Given the description of an element on the screen output the (x, y) to click on. 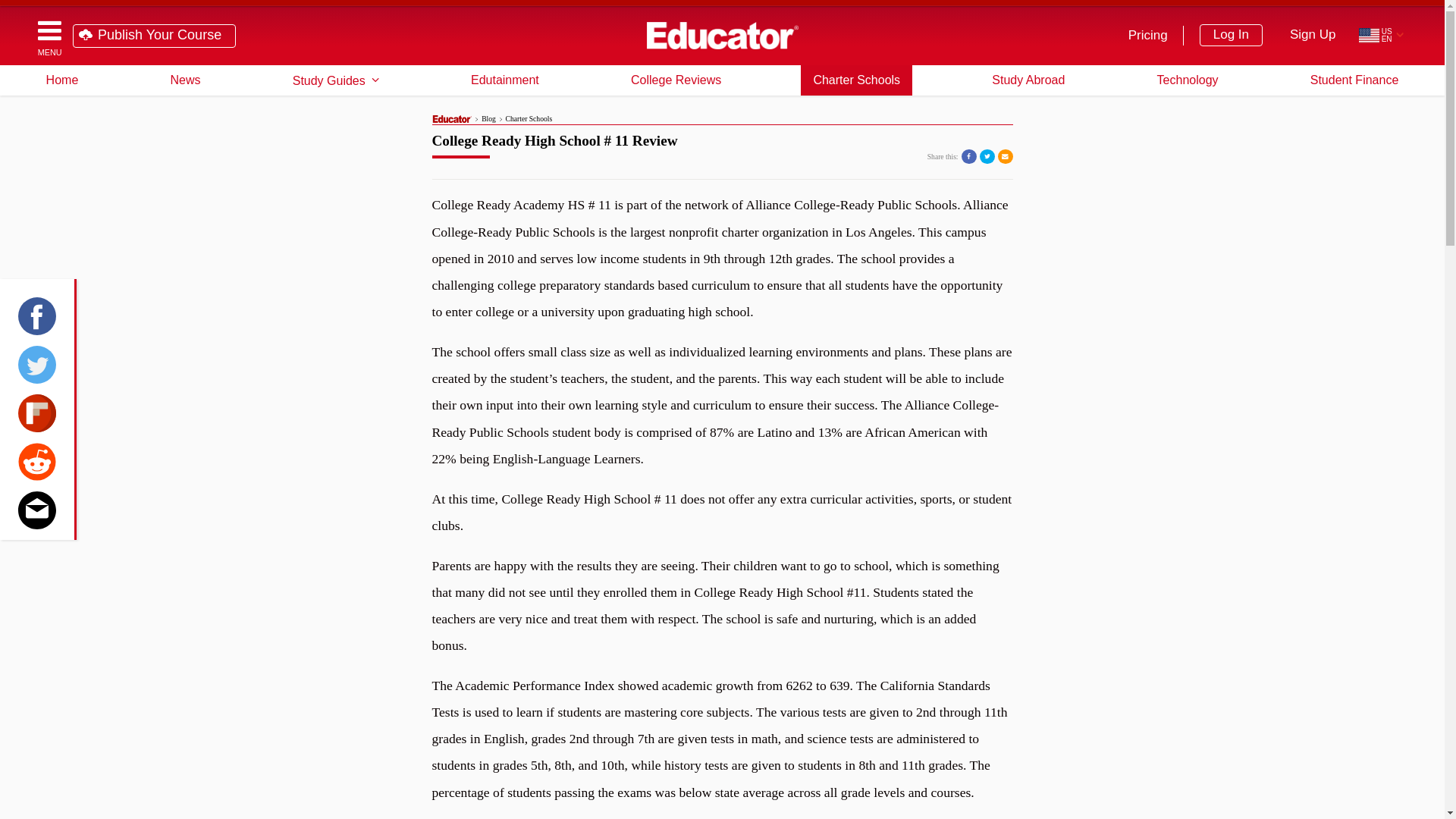
Publish Your Course (153, 35)
Log In (1230, 34)
Pricing (1150, 35)
Reddit logo (36, 461)
Educator (721, 35)
Sign Up (1312, 35)
